Given the description of an element on the screen output the (x, y) to click on. 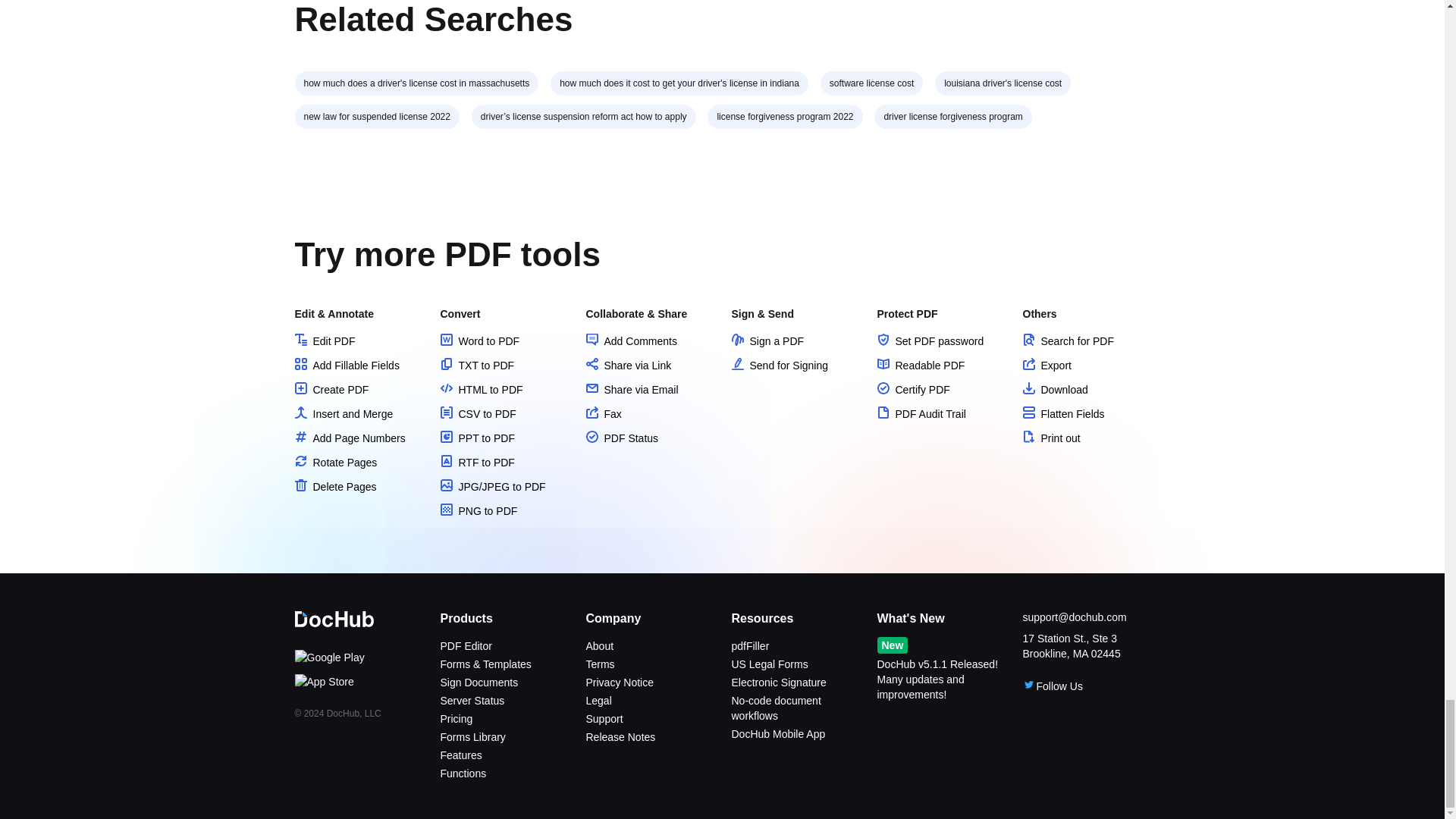
Edit PDF (324, 340)
Create PDF (331, 389)
TXT to PDF (476, 365)
Share via Email (631, 389)
PNG to PDF (477, 510)
CSV to PDF (477, 413)
Add Comments (631, 340)
RTF to PDF (476, 462)
PPT to PDF (476, 438)
PDF Status (621, 438)
Add Fillable Fields (346, 365)
HTML to PDF (480, 389)
Rotate Pages (335, 462)
Delete Pages (334, 486)
Insert and Merge (343, 413)
